Given the description of an element on the screen output the (x, y) to click on. 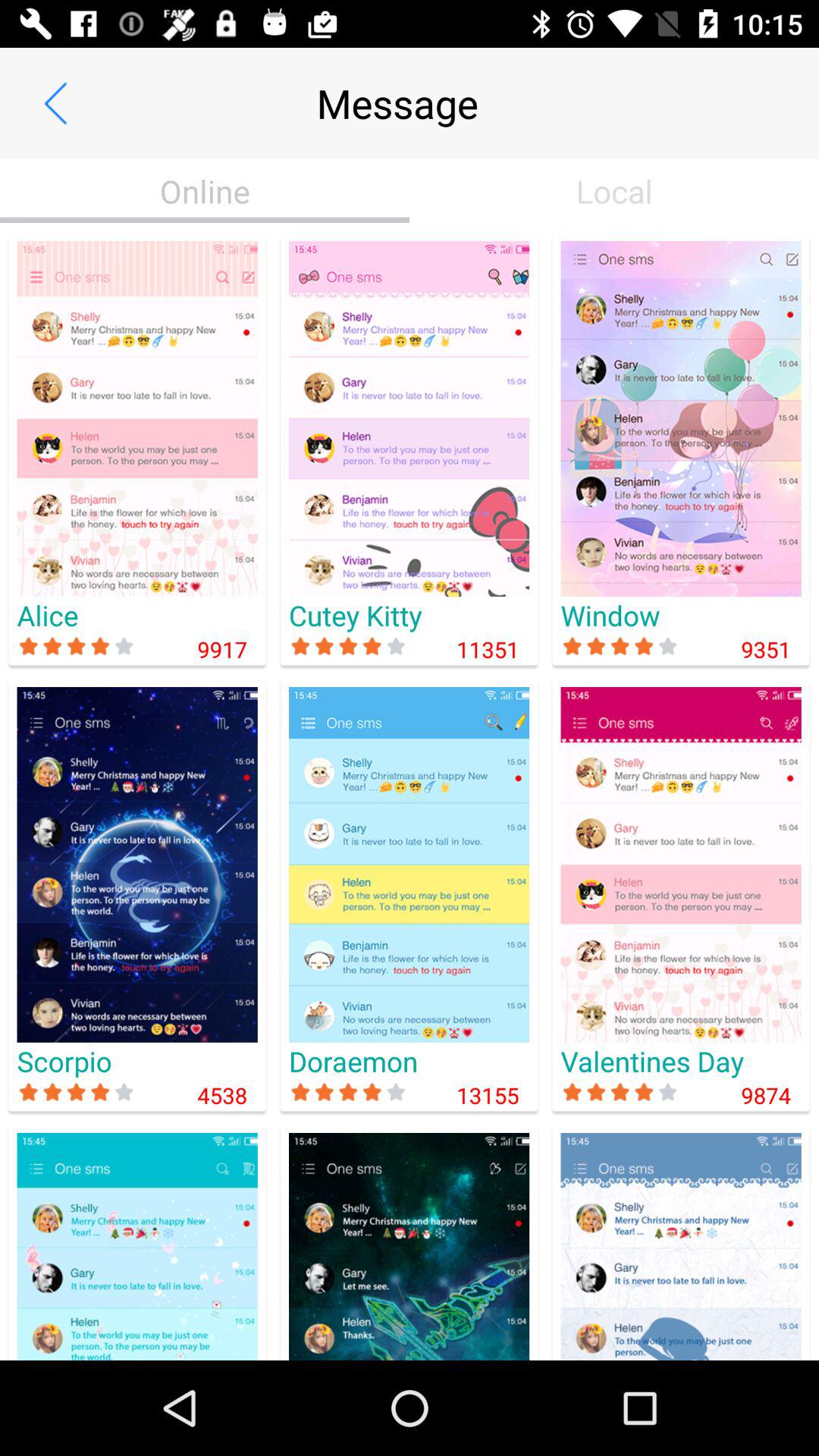
turn on local icon (614, 190)
